Given the description of an element on the screen output the (x, y) to click on. 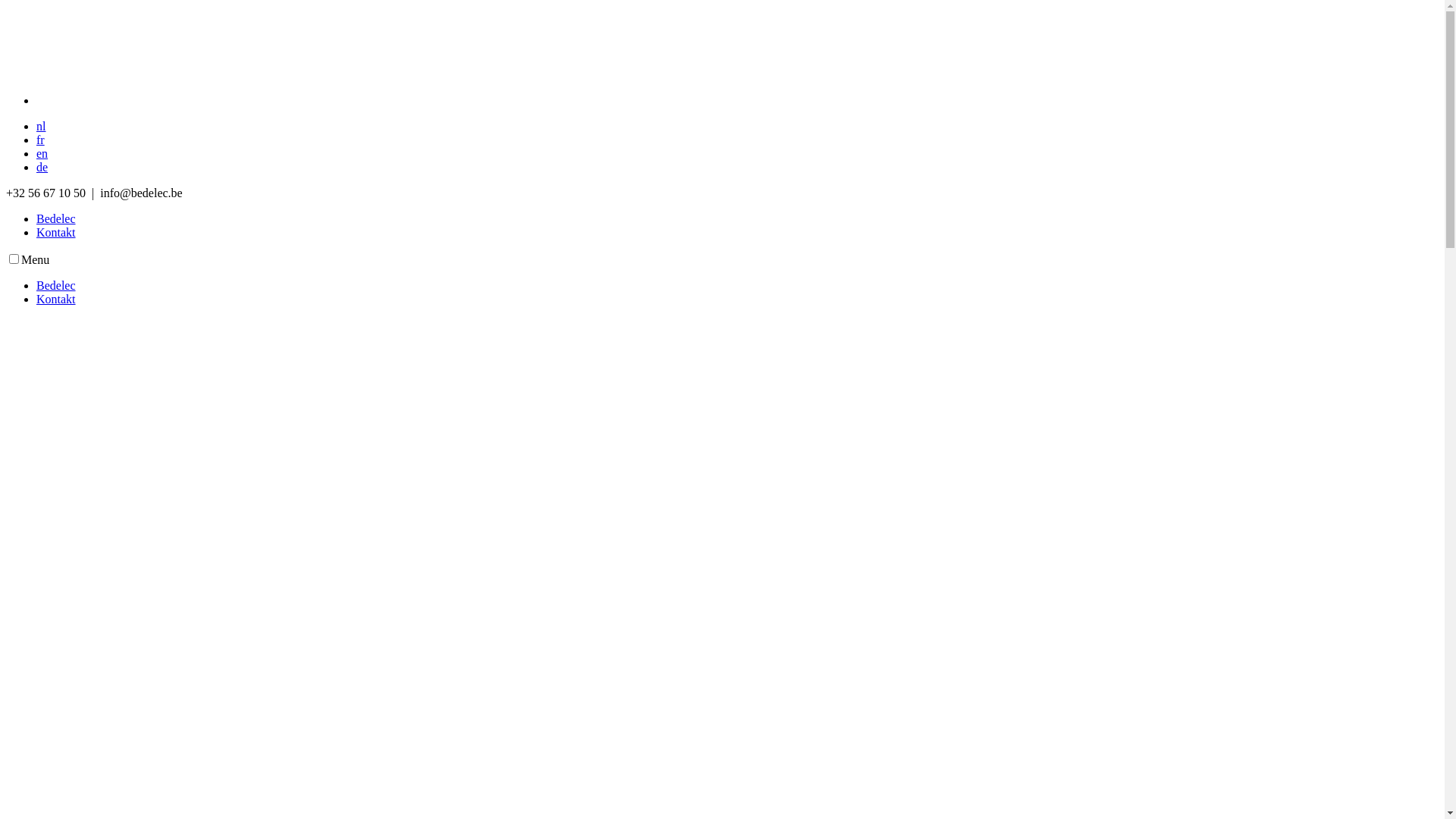
de Element type: text (41, 166)
Kontakt Element type: text (55, 298)
Kontakt Element type: text (55, 231)
Bedelec Element type: text (55, 218)
Bedelec Element type: text (55, 285)
nl Element type: text (40, 125)
fr Element type: text (40, 139)
en Element type: text (41, 153)
